Given the description of an element on the screen output the (x, y) to click on. 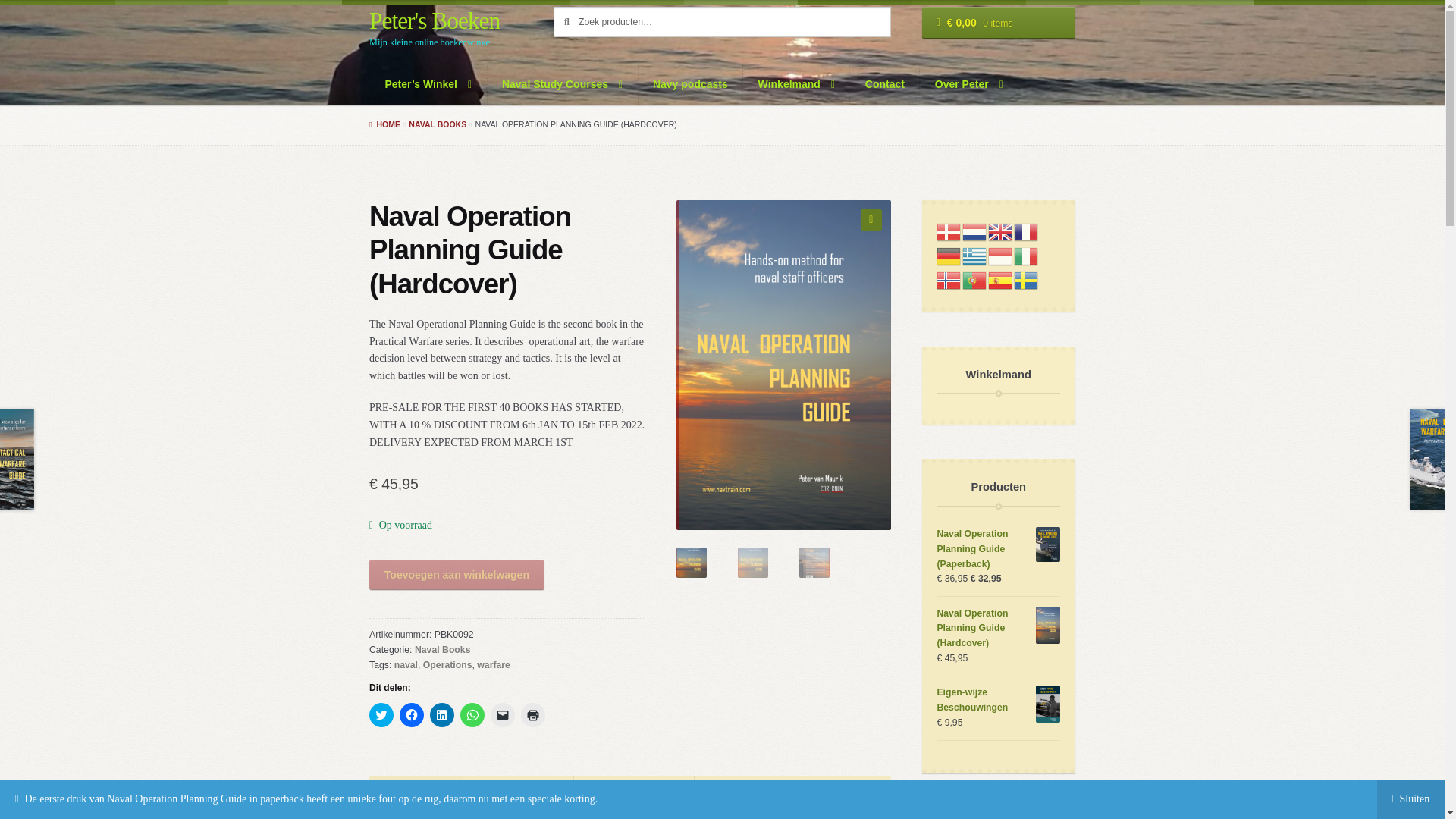
Peter's Boeken (434, 20)
Klik om te delen op Facebook (410, 714)
Contact (885, 84)
Klik om te delen op WhatsApp (472, 714)
German (949, 255)
Naval Study Courses (563, 84)
Danish (949, 231)
Navy podcasts (691, 84)
Klik om te delen met Twitter (381, 714)
Klik om op LinkedIn te delen (441, 714)
Dutch (975, 231)
Bekijk je winkelwagen (998, 22)
Greek (975, 255)
